Given the description of an element on the screen output the (x, y) to click on. 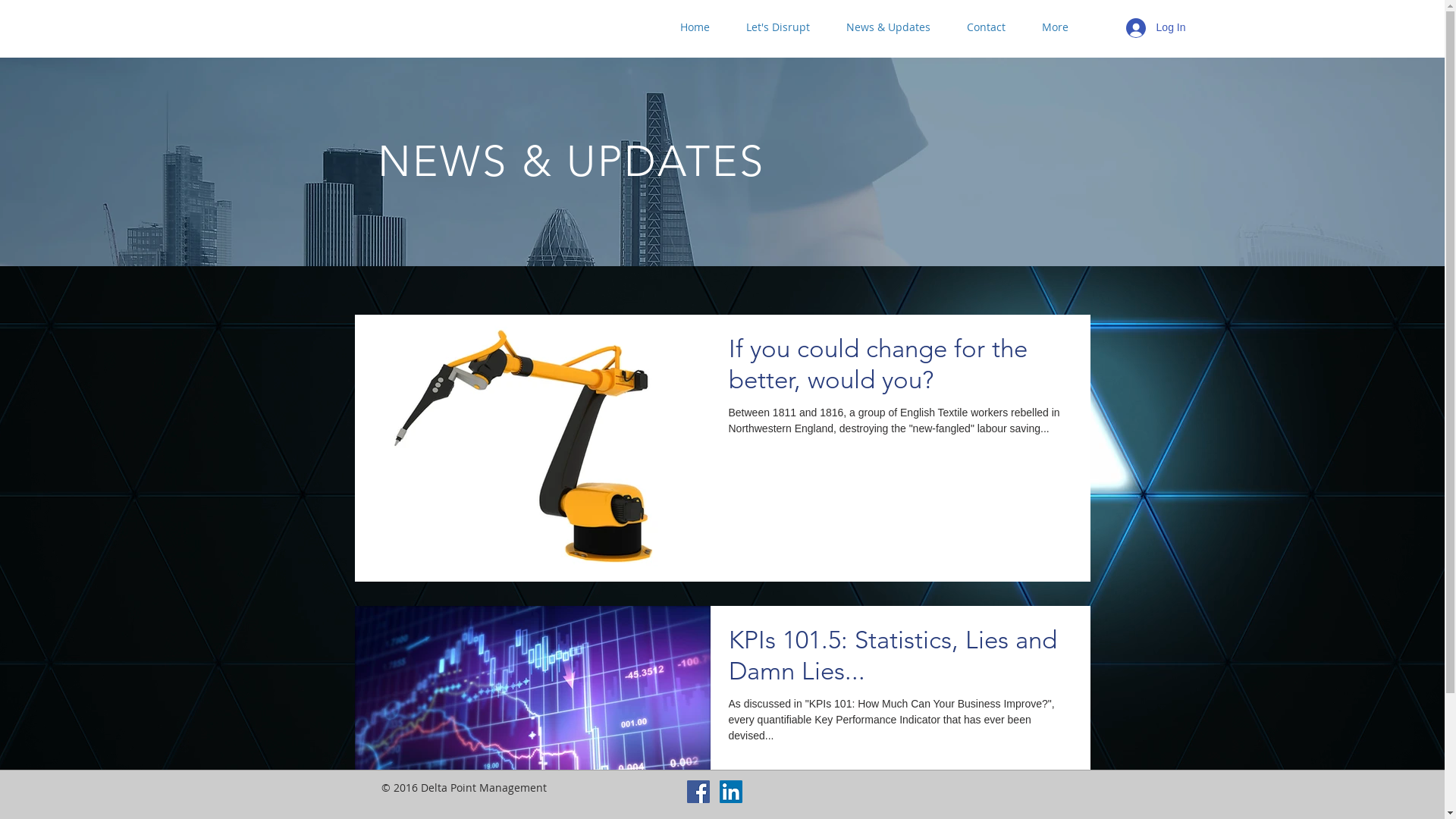
Home Element type: text (694, 27)
KPIs 101.5: Statistics, Lies and Damn Lies... Element type: text (899, 660)
Log In Element type: text (1155, 27)
If you could change for the better, would you? Element type: text (899, 368)
Contact Element type: text (984, 27)
News & Updates Element type: text (888, 27)
